Given the description of an element on the screen output the (x, y) to click on. 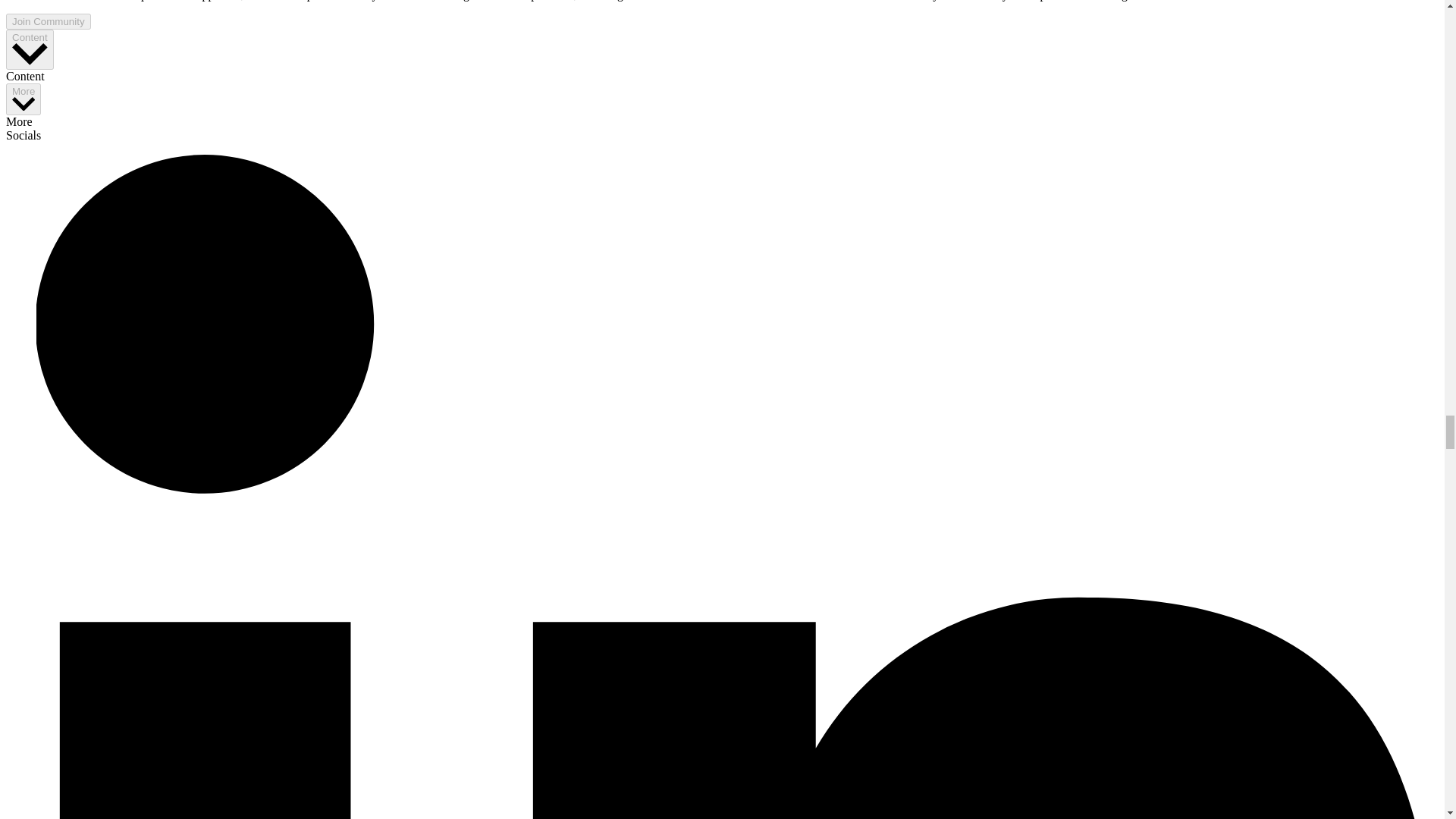
Content (29, 49)
More (22, 99)
Join Community (47, 21)
